Given the description of an element on the screen output the (x, y) to click on. 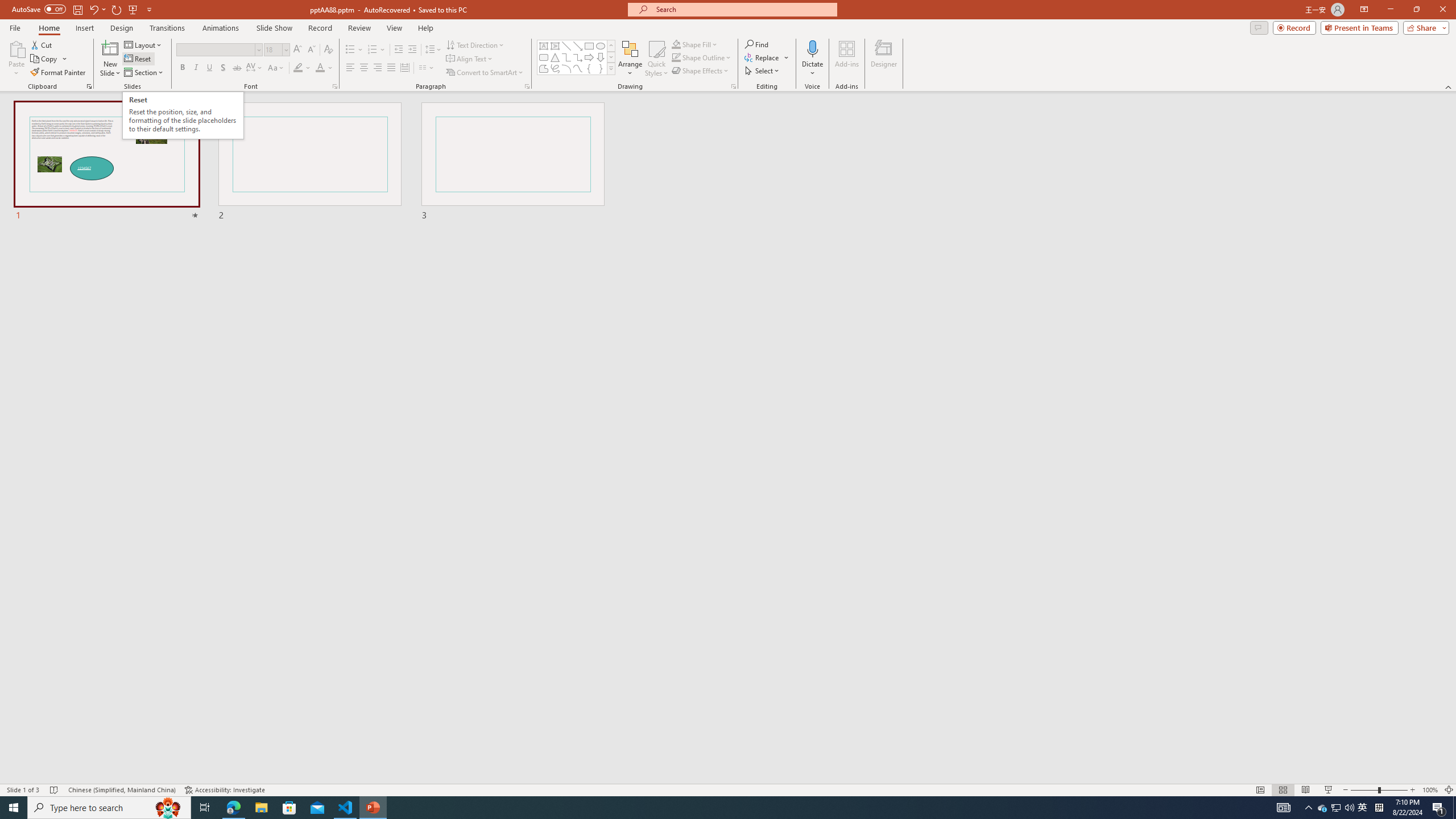
Shape Fill Aqua, Accent 2 (675, 44)
